Given the description of an element on the screen output the (x, y) to click on. 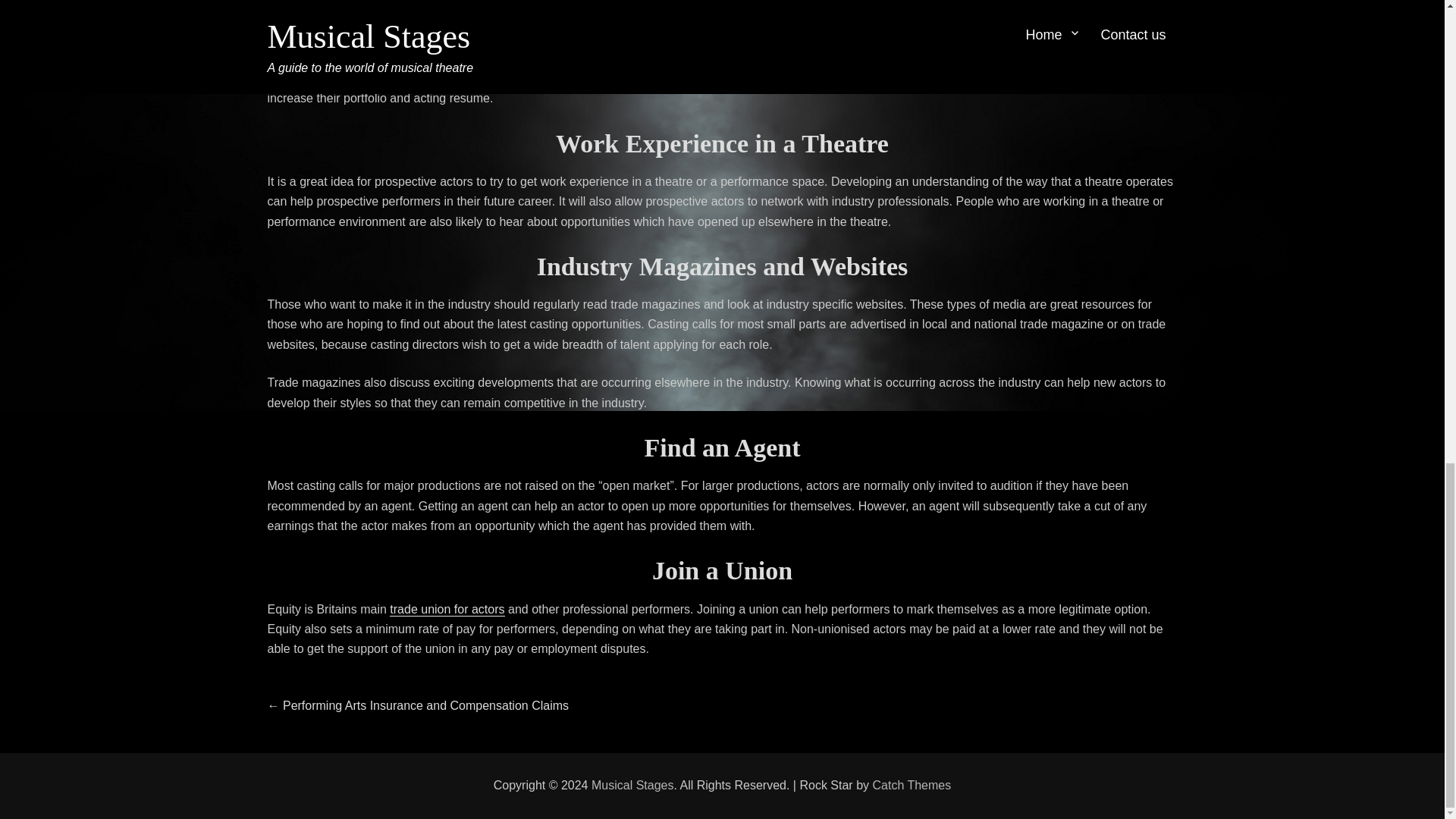
trade union for actors (446, 608)
Catch Themes (911, 784)
Musical Stages (632, 784)
